Given the description of an element on the screen output the (x, y) to click on. 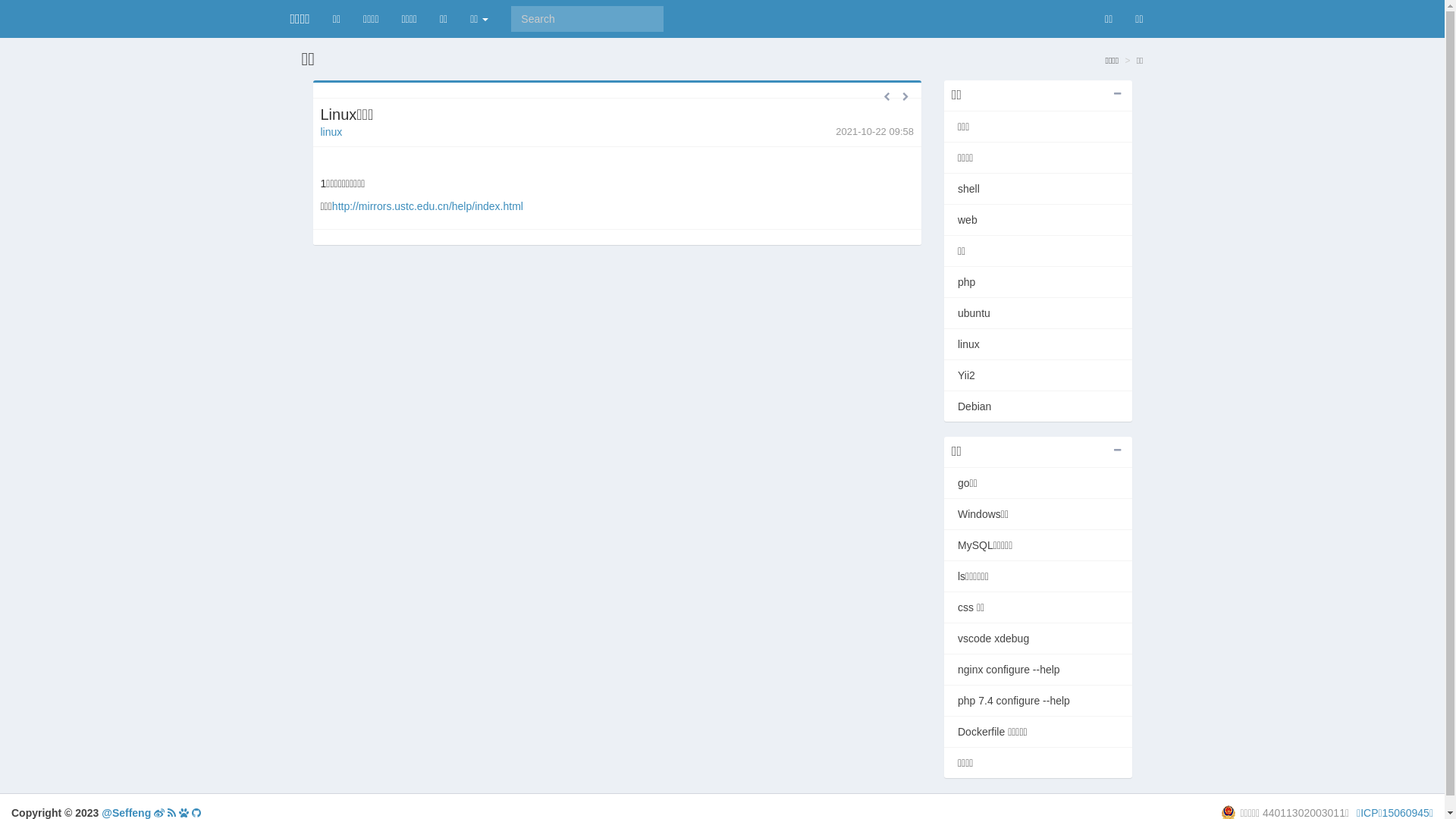
Debian Element type: text (1038, 406)
ubuntu Element type: text (1038, 313)
linux Element type: text (1038, 344)
php Element type: text (1038, 281)
GitHub Element type: hover (195, 812)
vscode xdebug Element type: text (1038, 638)
Yii2 Element type: text (1038, 375)
linux Element type: text (331, 131)
shell Element type: text (1038, 188)
http://mirrors.ustc.edu.cn/help/index.html Element type: text (427, 206)
php 7.4 configure --help Element type: text (1038, 700)
web Element type: text (1038, 219)
nginx configure --help Element type: text (1038, 669)
